Given the description of an element on the screen output the (x, y) to click on. 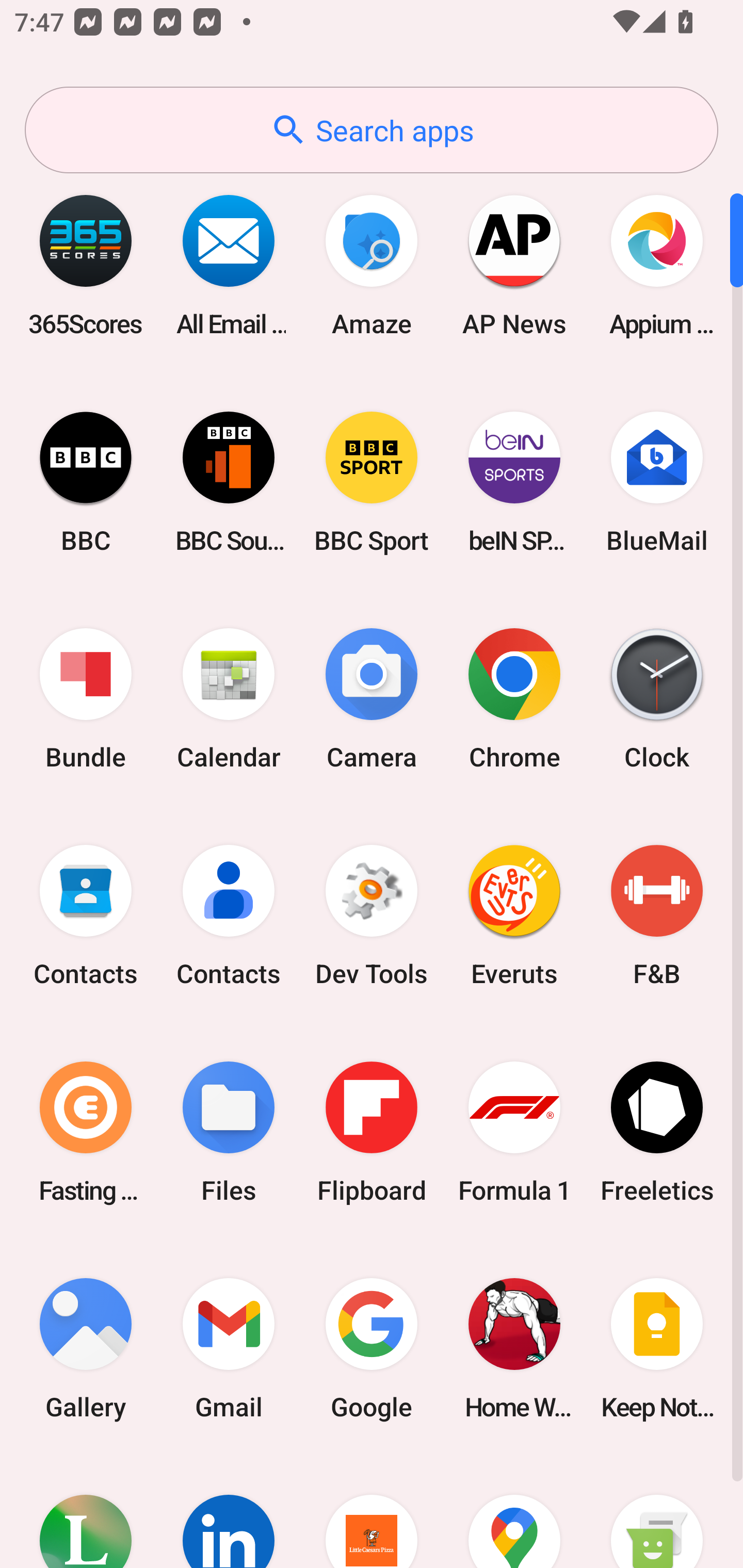
  Search apps (371, 130)
365Scores (85, 264)
All Email Connect (228, 264)
Amaze (371, 264)
AP News (514, 264)
Appium Settings (656, 264)
BBC (85, 482)
BBC Sounds (228, 482)
BBC Sport (371, 482)
beIN SPORTS (514, 482)
BlueMail (656, 482)
Bundle (85, 699)
Calendar (228, 699)
Camera (371, 699)
Chrome (514, 699)
Clock (656, 699)
Contacts (85, 915)
Contacts (228, 915)
Dev Tools (371, 915)
Everuts (514, 915)
F&B (656, 915)
Fasting Coach (85, 1131)
Files (228, 1131)
Flipboard (371, 1131)
Formula 1 (514, 1131)
Freeletics (656, 1131)
Gallery (85, 1348)
Gmail (228, 1348)
Google (371, 1348)
Home Workout (514, 1348)
Keep Notes (656, 1348)
Lifesum (85, 1512)
LinkedIn (228, 1512)
Little Caesars Pizza (371, 1512)
Maps (514, 1512)
Messaging (656, 1512)
